Given the description of an element on the screen output the (x, y) to click on. 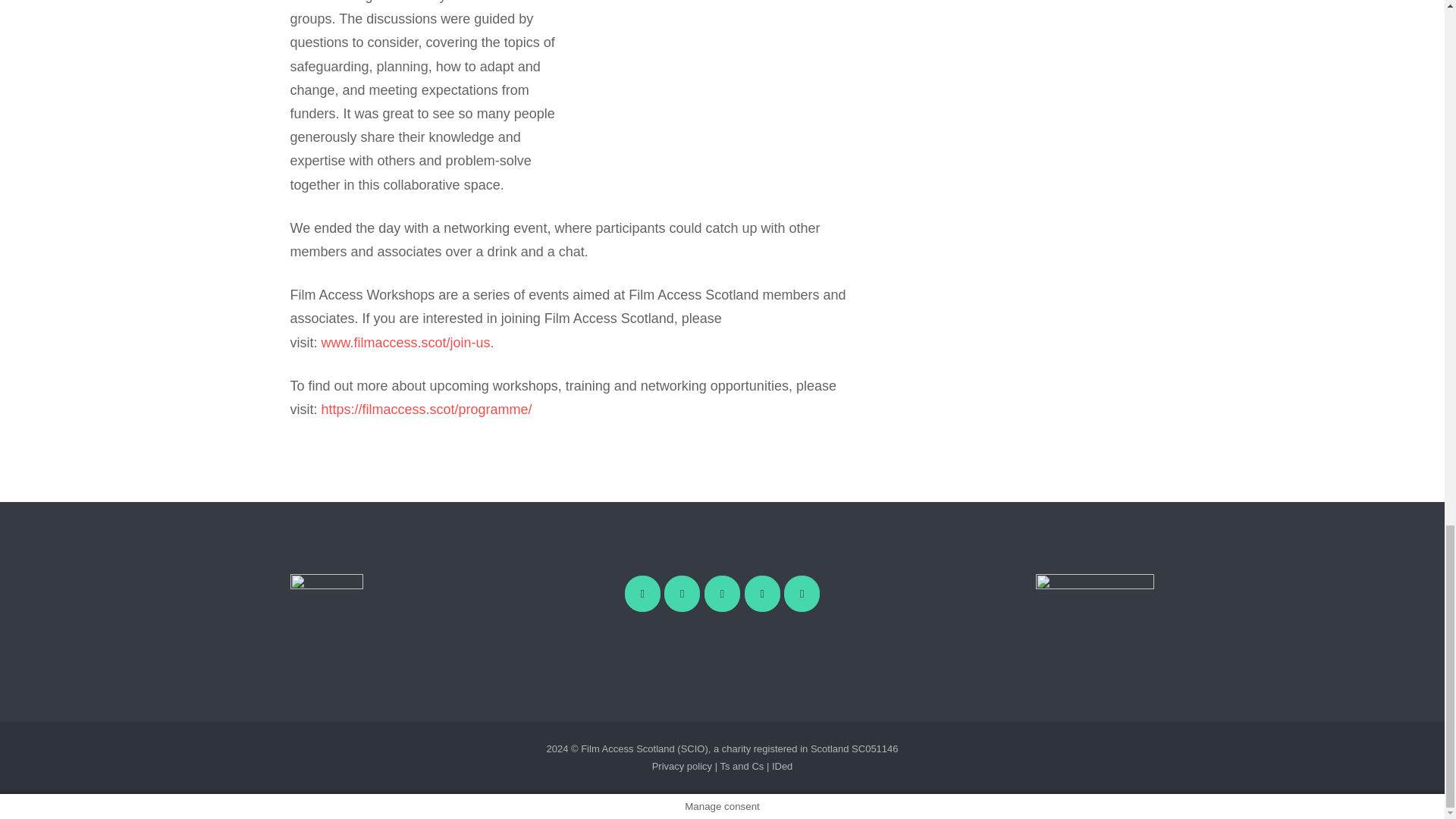
Film Access Scotland on Linkedin (801, 593)
Film Access Scotland on Facebook (642, 593)
Film Access Scotland on Vimeo Square (681, 593)
Film Access Scotland on Instagram (762, 593)
Film Access Scotland on Twitter (721, 593)
